Given the description of an element on the screen output the (x, y) to click on. 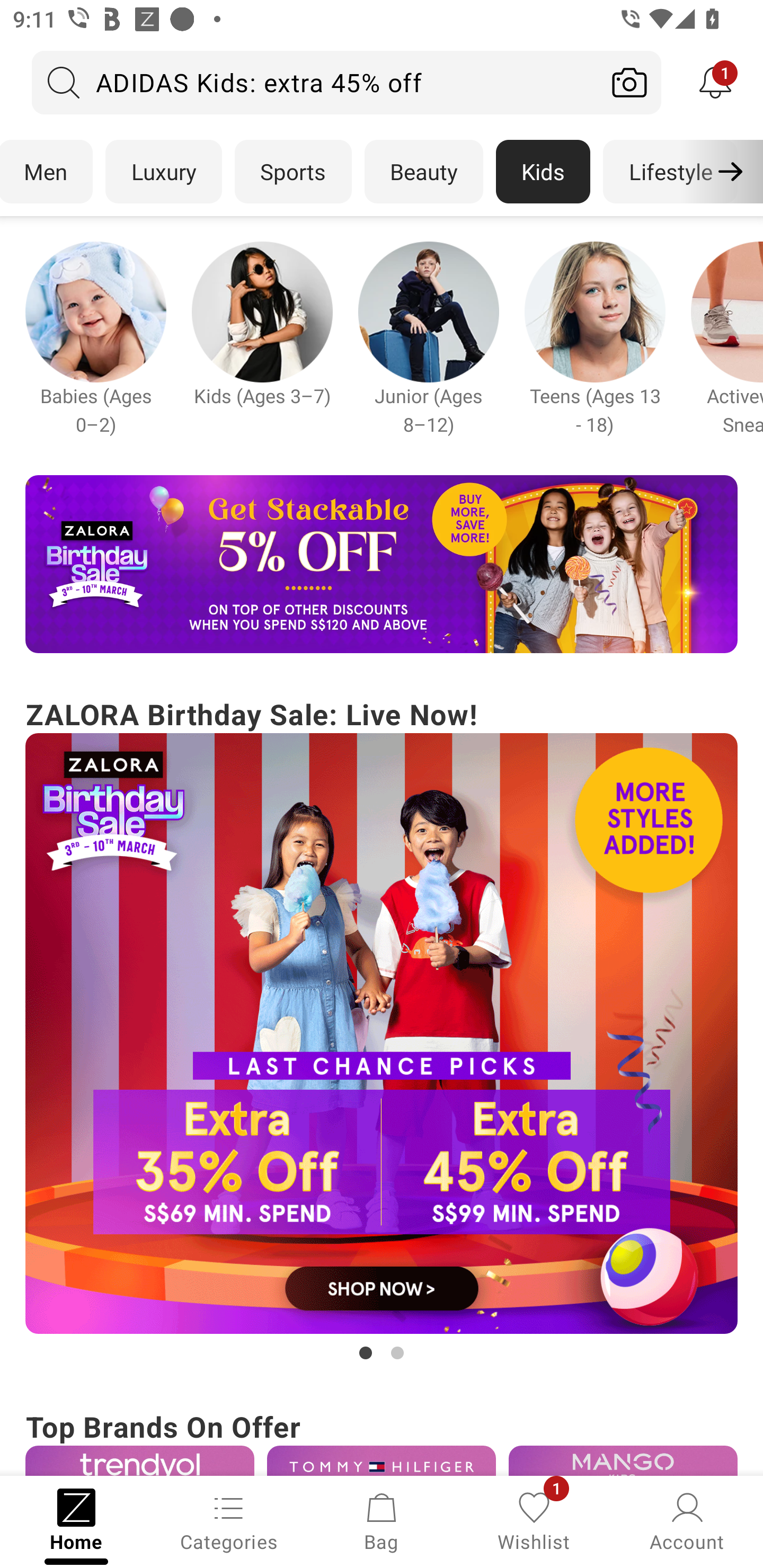
ADIDAS Kids: extra 45% off (314, 82)
Men (46, 171)
Luxury (163, 171)
Sports (293, 171)
Beauty (423, 171)
Kids (542, 171)
Lifestyle (669, 171)
Campaign banner (95, 311)
Campaign banner (261, 311)
Campaign banner (428, 311)
Campaign banner (594, 311)
Campaign banner (381, 564)
ZALORA Birthday Sale: Live Now! Campaign banner (381, 1028)
Campaign banner (381, 1033)
Campaign banner (139, 1460)
Campaign banner (381, 1460)
Campaign banner (622, 1460)
Categories (228, 1519)
Bag (381, 1519)
Wishlist, 1 new notification Wishlist (533, 1519)
Account (686, 1519)
